Given the description of an element on the screen output the (x, y) to click on. 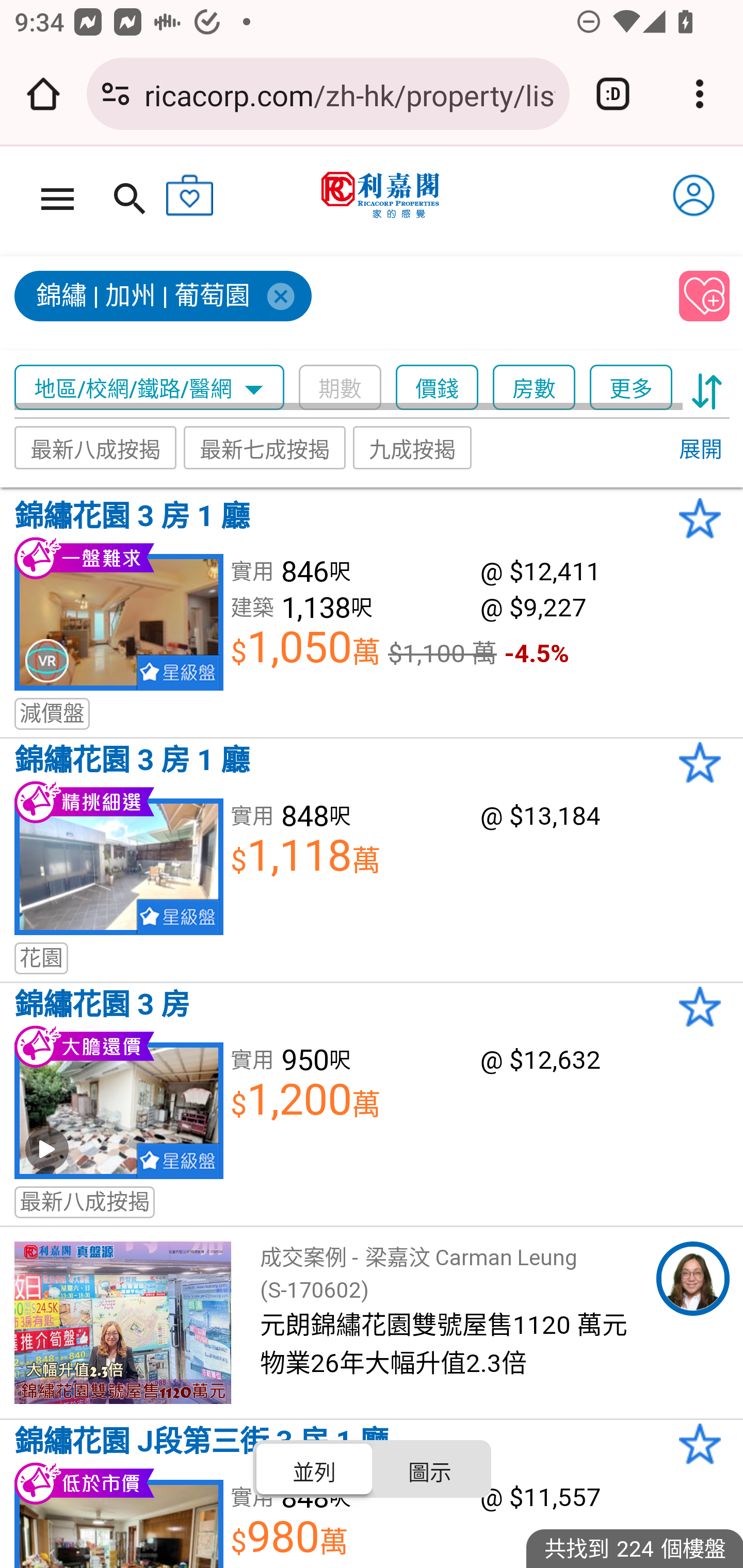
Open the home page (43, 93)
Connection is secure (115, 93)
Switch or close tabs (612, 93)
Customize and control Google Chrome (699, 93)
錦繡 | 加州 | 葡萄園 (338, 304)
地區/校網/鐵路/醫網 (149, 387)
期數 (339, 387)
價錢 (436, 387)
房數 (533, 387)
更多 (630, 387)
sort (706, 387)
最新八成按揭 (95, 446)
最新七成按揭 (264, 446)
九成按揭 (412, 446)
並列 (314, 1468)
圖示 (429, 1468)
